Given the description of an element on the screen output the (x, y) to click on. 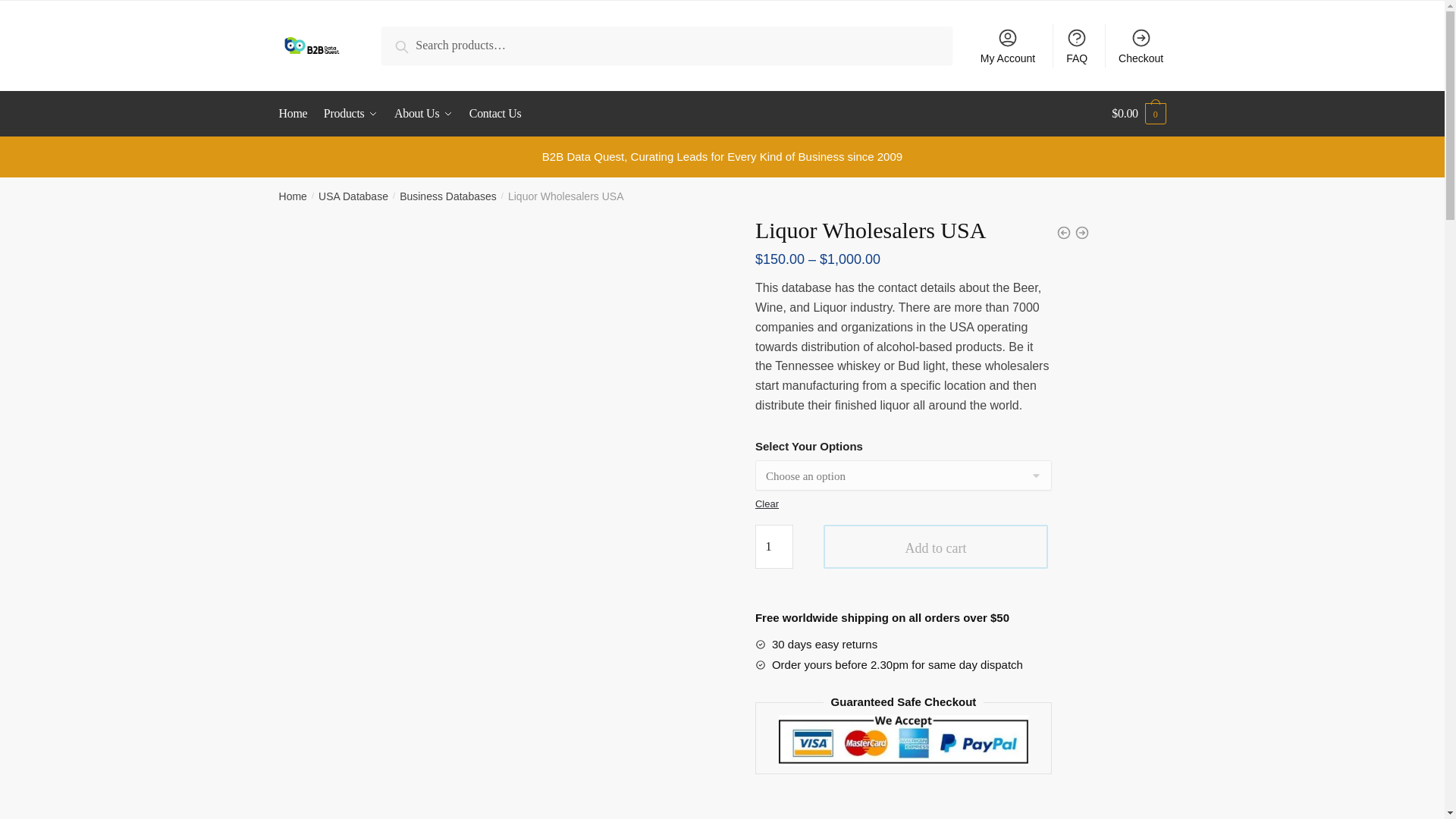
Home (293, 196)
About Us (423, 113)
Search (417, 45)
Business Databases (447, 196)
My Account (1008, 45)
Clear (766, 503)
FAQ (1077, 45)
USA Database (353, 196)
Checkout (1141, 45)
Add to cart (936, 546)
Products (350, 113)
Contact Us (495, 113)
View your shopping cart (1139, 113)
